Given the description of an element on the screen output the (x, y) to click on. 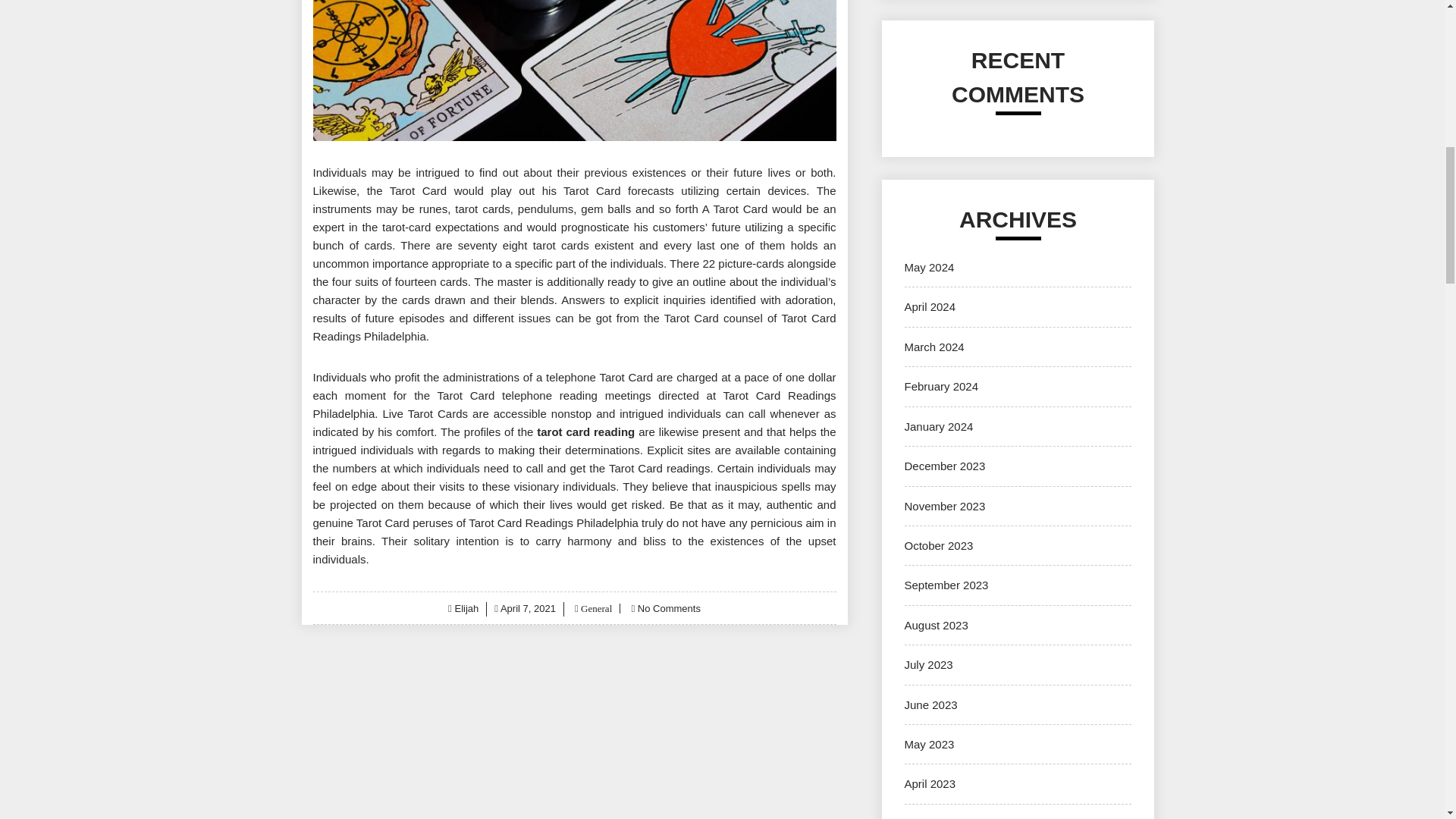
July 2023 (928, 664)
August 2023 (936, 625)
January 2024 (938, 426)
January 2023 (938, 818)
February 2024 (941, 386)
April 2024 (929, 306)
October 2023 (938, 545)
General (594, 608)
May 2023 (928, 744)
March 2024 (933, 346)
June 2023 (930, 704)
Elijah (466, 608)
September 2023 (946, 584)
April 7, 2021 (528, 608)
tarot card reading (585, 431)
